Given the description of an element on the screen output the (x, y) to click on. 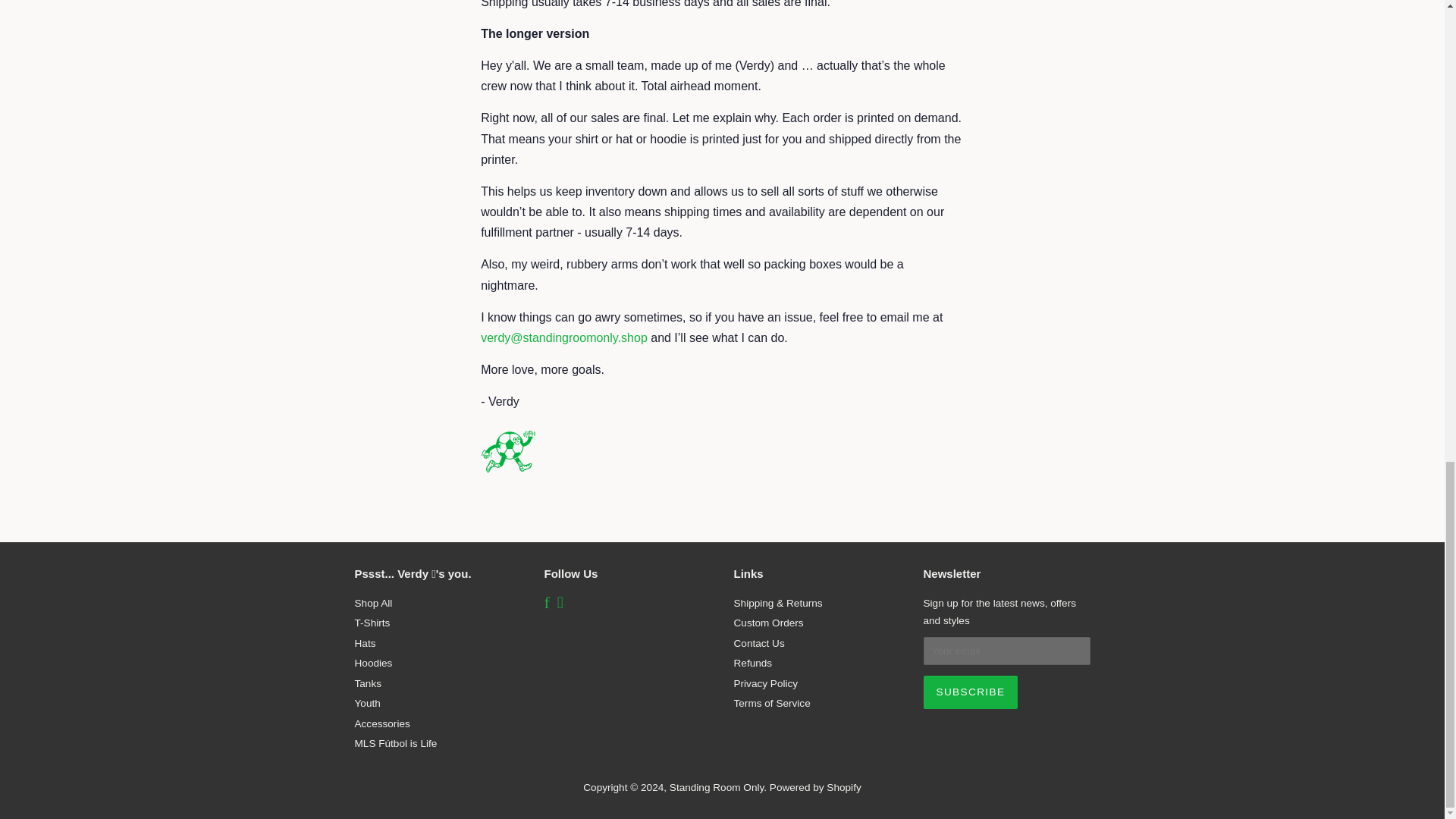
Accessories (382, 723)
T-Shirts (372, 622)
Hoodies (374, 663)
Tanks (368, 683)
Hats (365, 643)
Shop All (374, 603)
Youth (367, 703)
Subscribe (970, 692)
